Given the description of an element on the screen output the (x, y) to click on. 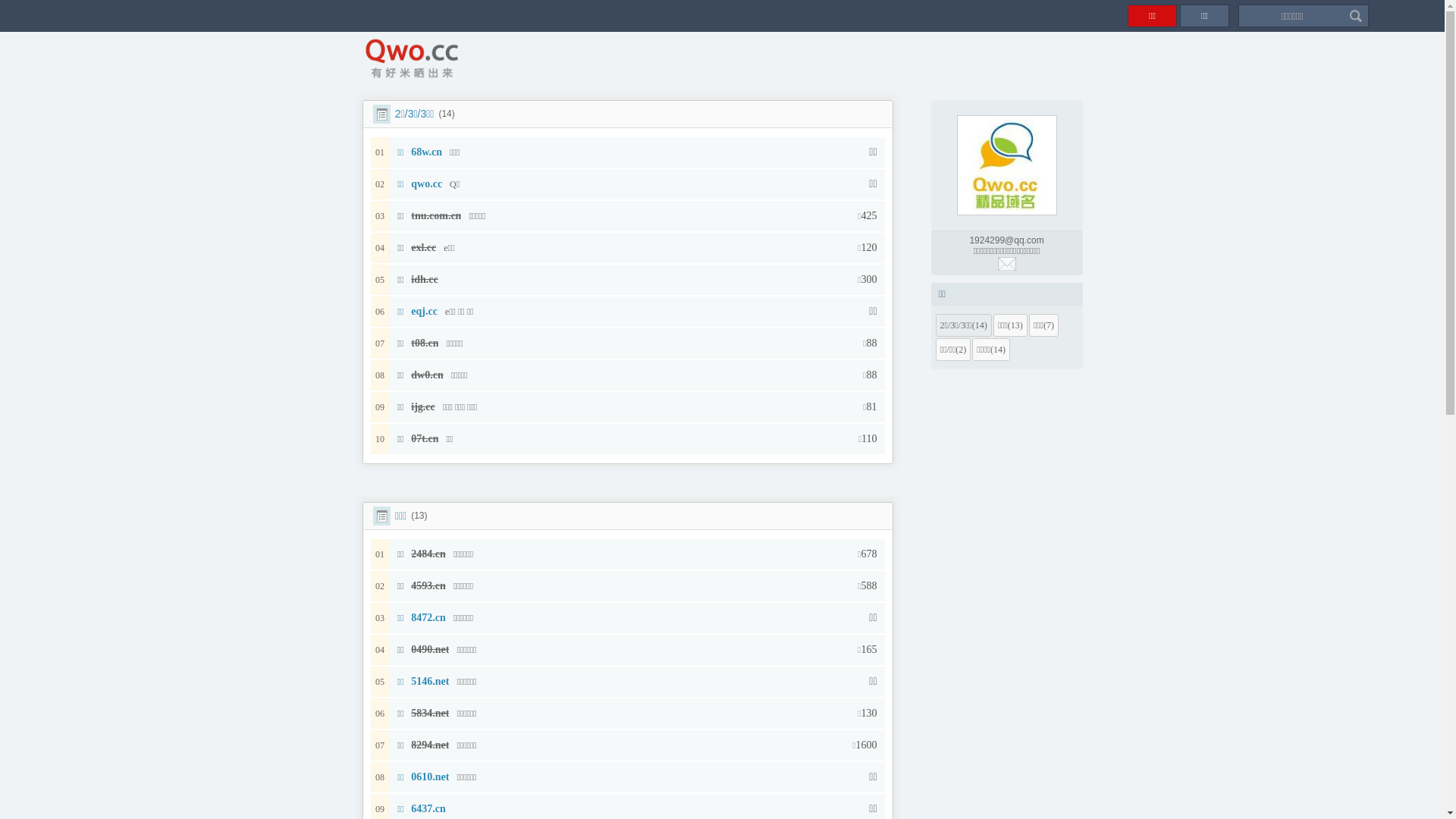
eqj.cc Element type: text (424, 310)
0610.net Element type: text (429, 776)
8472.cn Element type: text (428, 617)
5146.net Element type: text (429, 681)
68w.cn Element type: text (426, 151)
qwo.cc Element type: text (426, 183)
  Element type: text (1005, 263)
6437.cn Element type: text (428, 808)
